Given the description of an element on the screen output the (x, y) to click on. 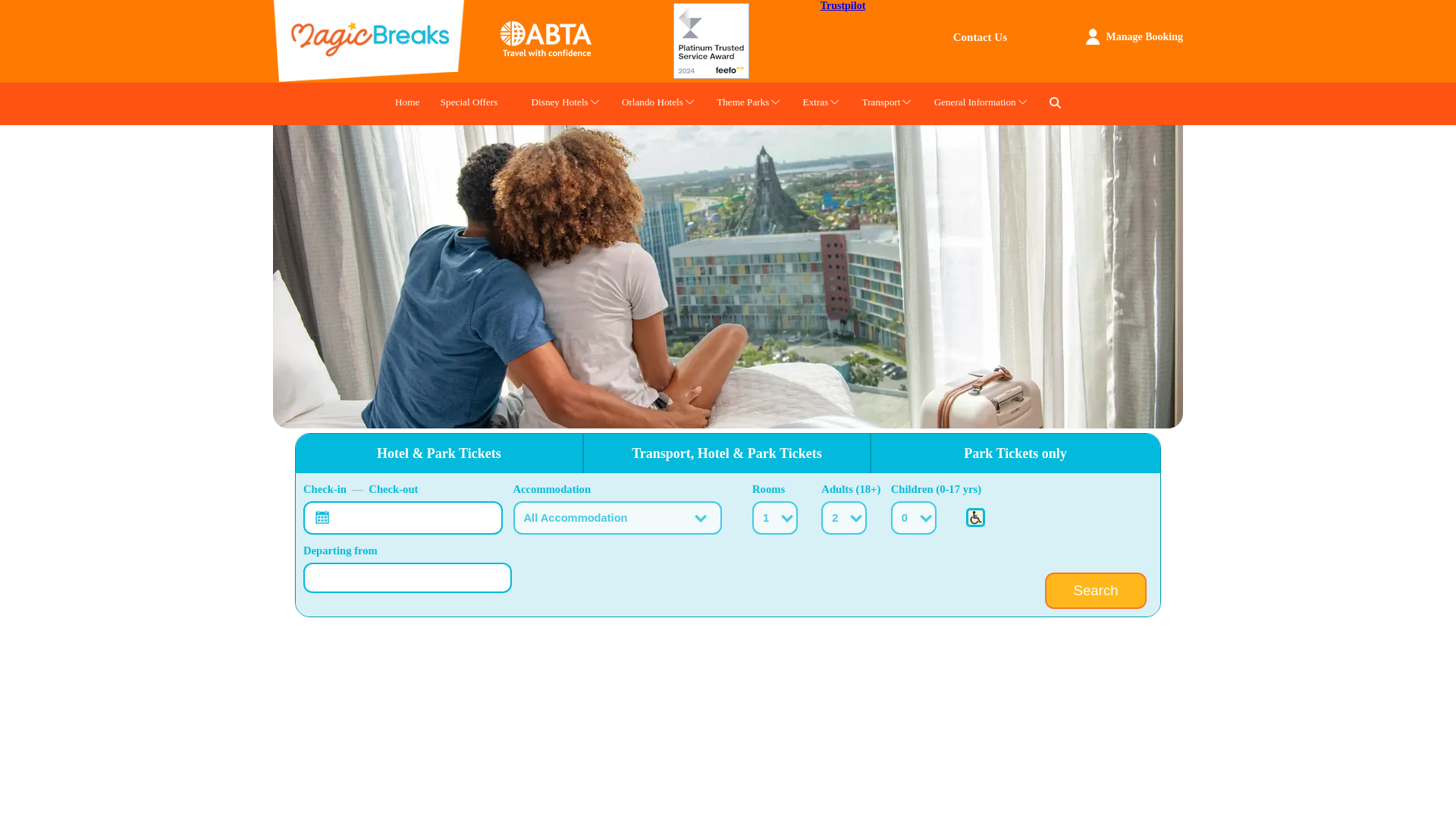
Disney Hotels (559, 103)
Contact Us (980, 37)
Special Offers (469, 103)
Please contact us on 0330 880 5001 (975, 517)
Manage Booking (1143, 36)
Transport (881, 103)
Orlando Hotels (651, 103)
Trustpilot (843, 5)
Search (1096, 590)
search (1055, 102)
General Information (975, 103)
Theme Parks (742, 103)
